Given the description of an element on the screen output the (x, y) to click on. 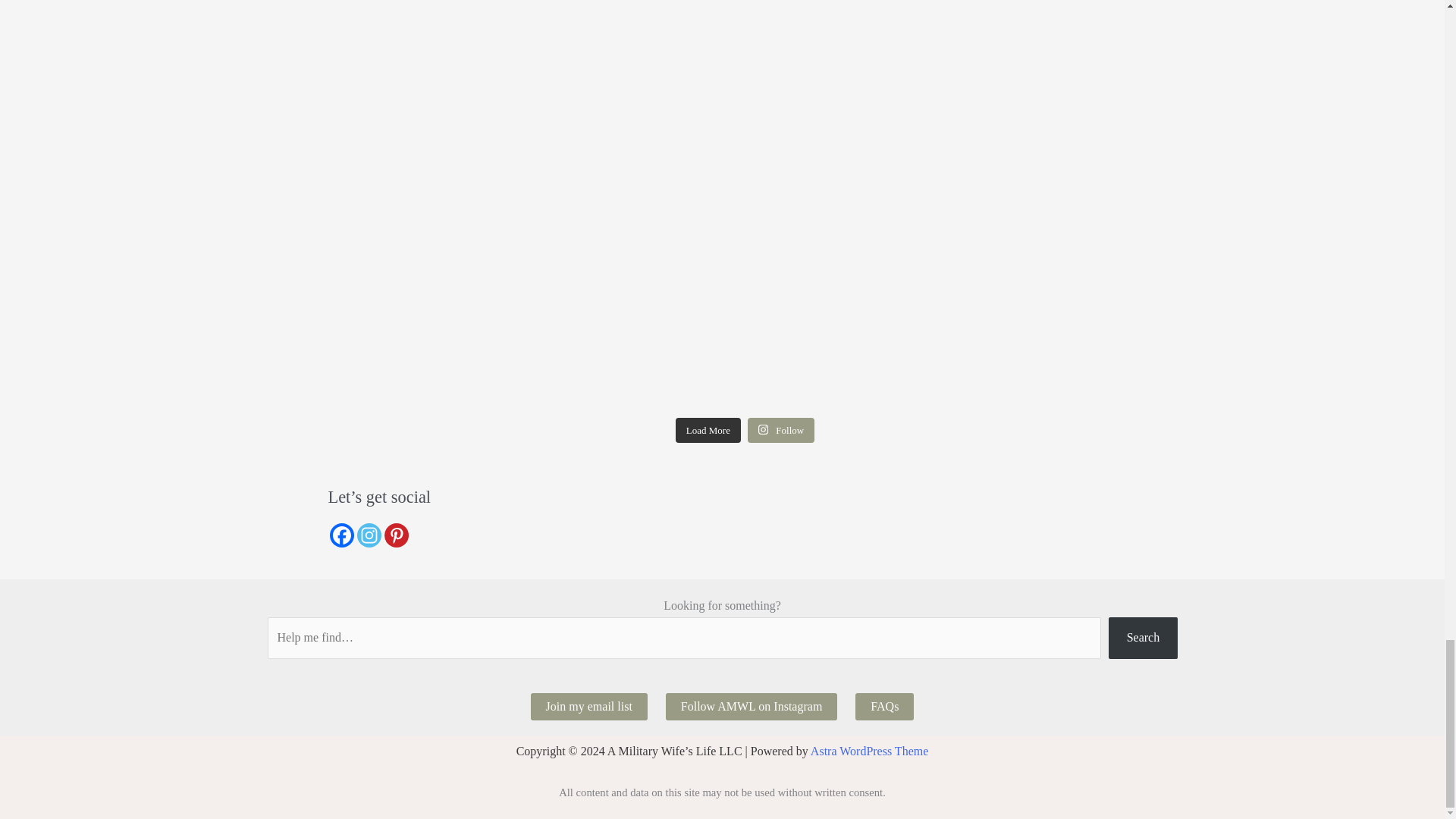
Pinterest (395, 535)
Instagram (368, 535)
Facebook (341, 535)
